Given the description of an element on the screen output the (x, y) to click on. 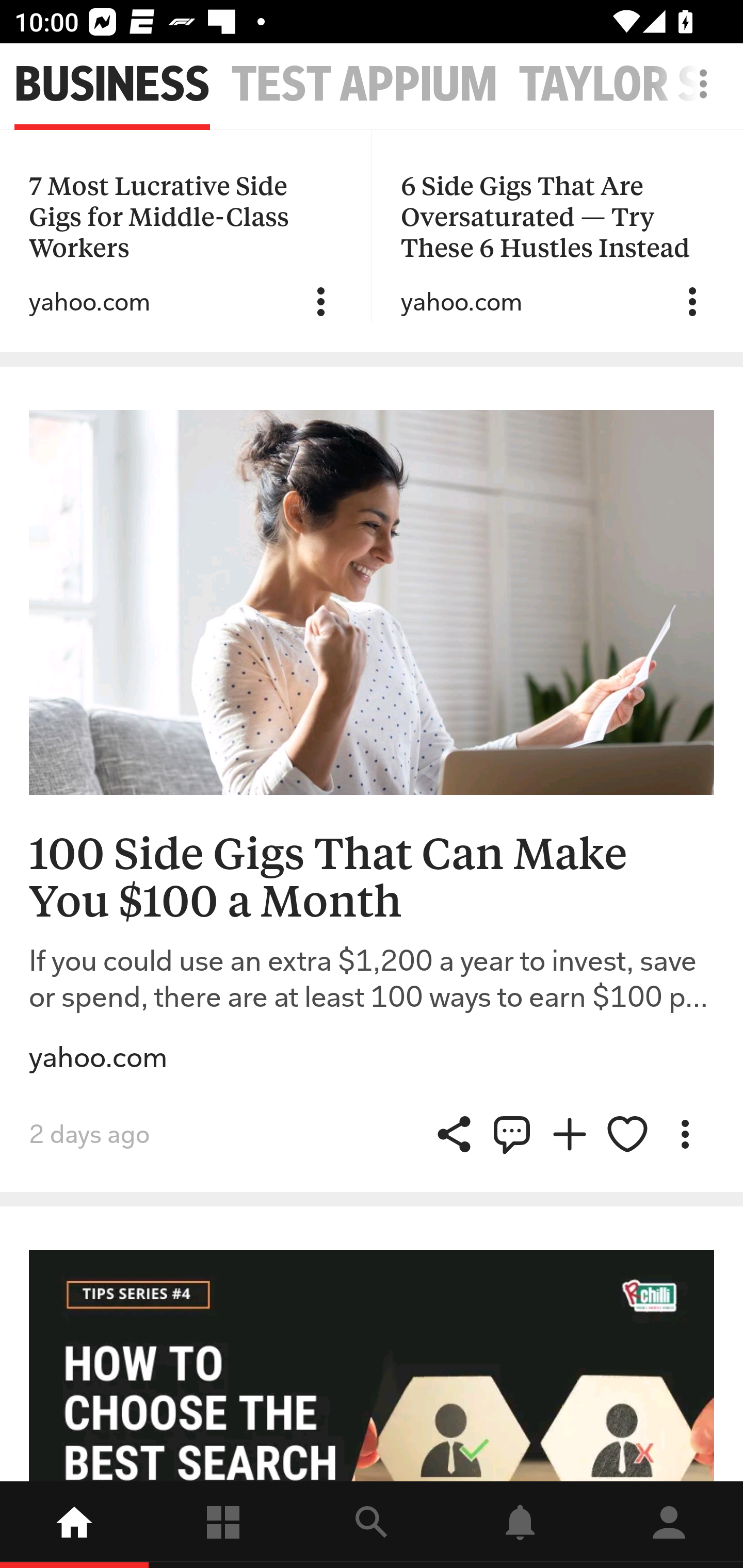
BUSINESS (112, 84)
TEST APPIUM (364, 84)
TAYLOR SWIFT  (631, 84)
Edit Home (697, 83)
Options (320, 301)
Options (692, 301)
Share (453, 1134)
Share (511, 1134)
Flip into Magazine (569, 1134)
Like (627, 1134)
Options (685, 1134)
home (74, 1524)
Following (222, 1524)
explore (371, 1524)
Notifications (519, 1524)
Profile (668, 1524)
